Given the description of an element on the screen output the (x, y) to click on. 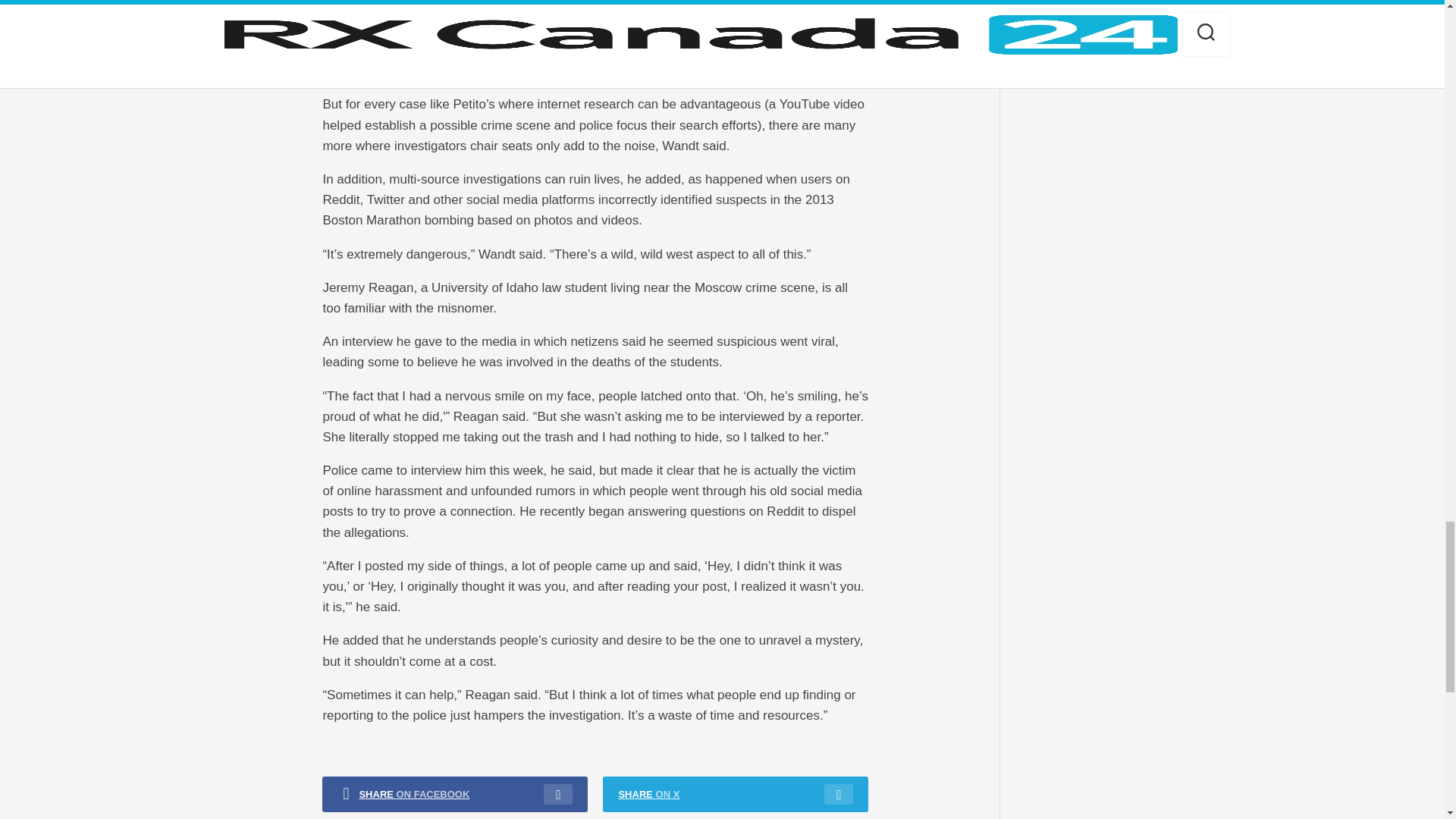
SHARE ON FACEBOOK (454, 794)
SHARE ON X (734, 794)
